Given the description of an element on the screen output the (x, y) to click on. 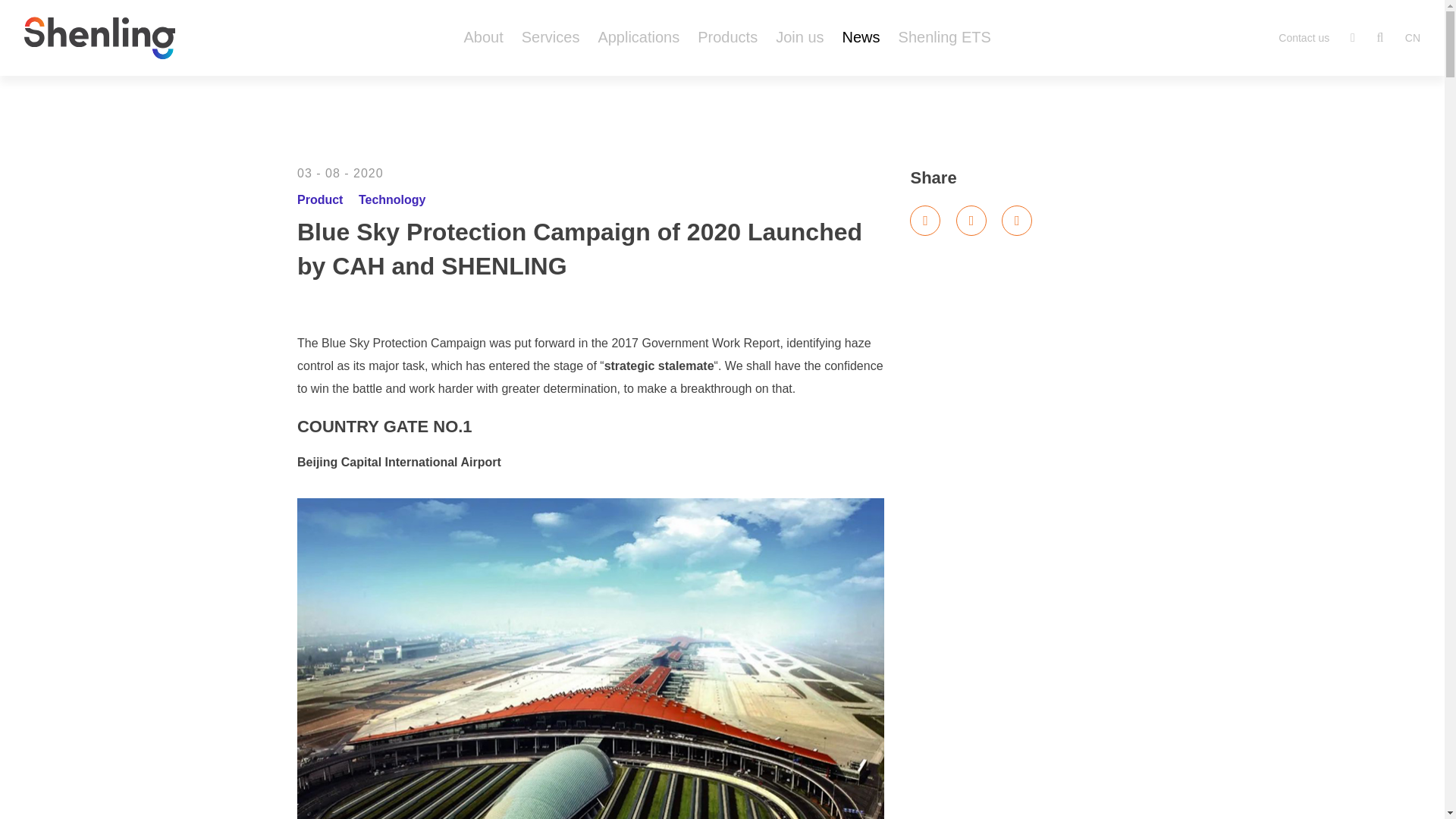
About (482, 36)
Contact us (1305, 37)
Technology (392, 199)
News (861, 36)
Shenling ETS (944, 36)
Applications (637, 36)
Product (319, 199)
Join us (800, 36)
Products (727, 36)
Services (550, 36)
